Given the description of an element on the screen output the (x, y) to click on. 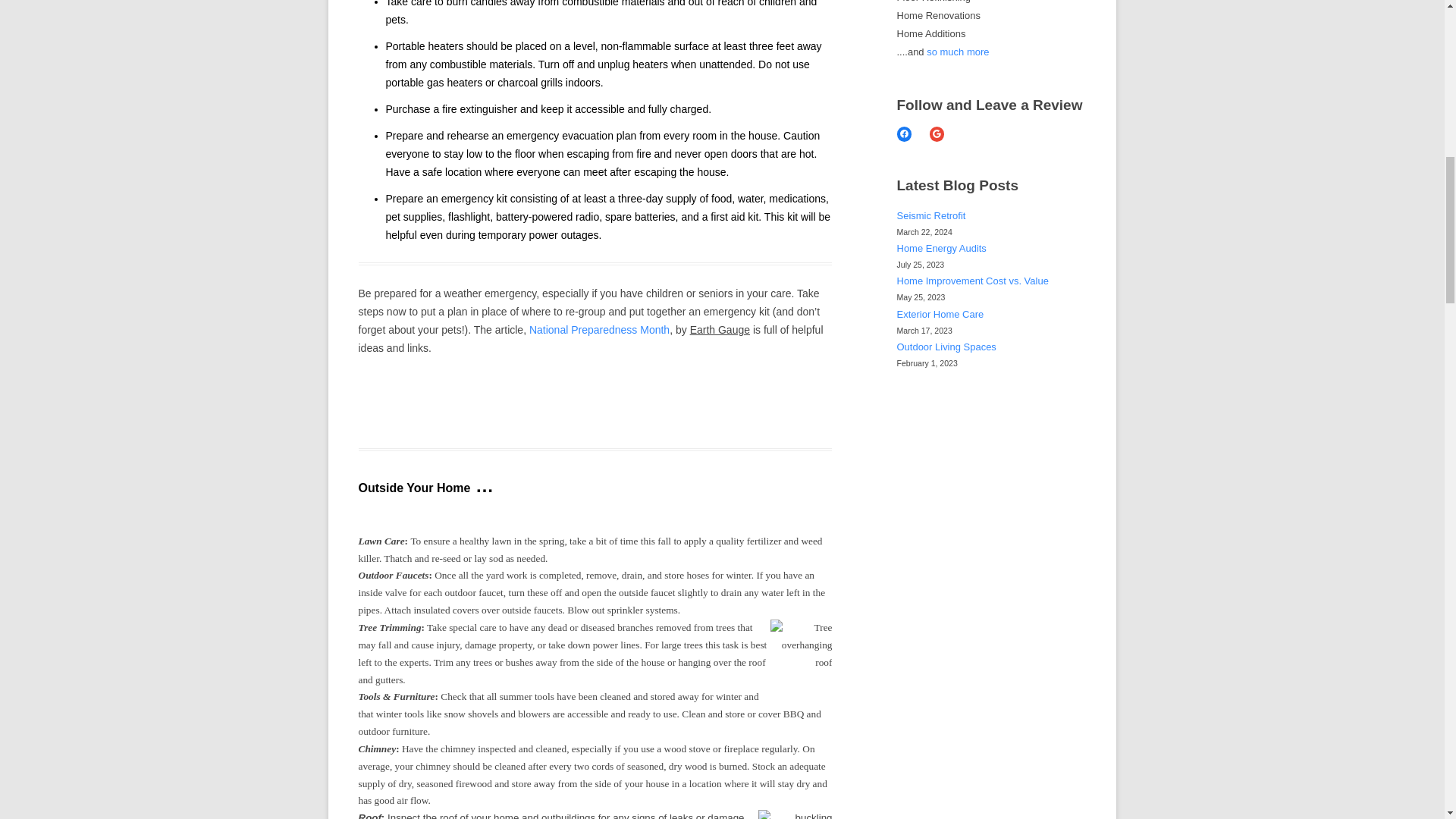
National Preparedness Month (599, 329)
National Preparedness Month (599, 329)
